Given the description of an element on the screen output the (x, y) to click on. 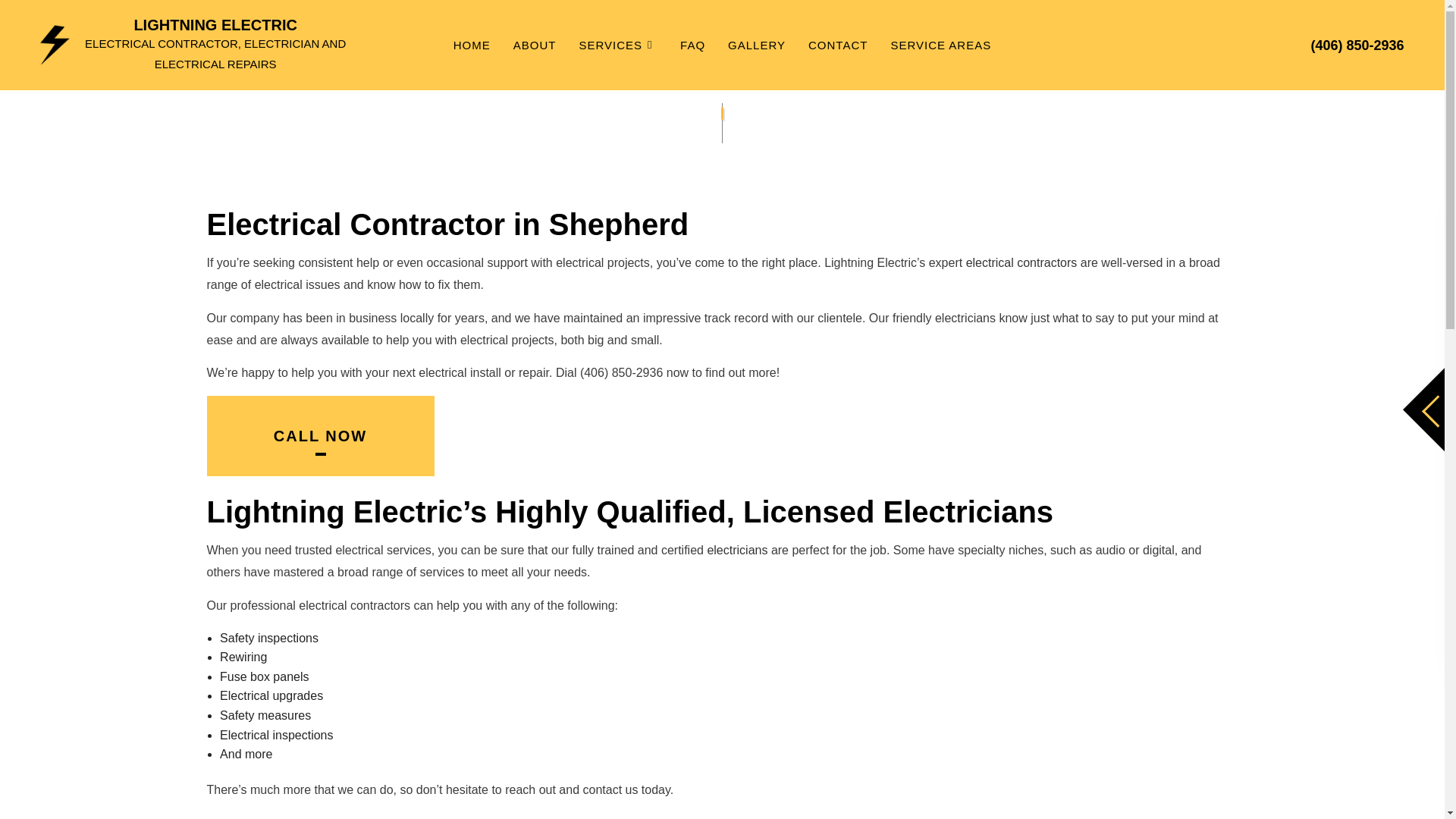
SERVICES (617, 44)
Lightning Electric (54, 43)
COMMERCIAL ELECTRICIAN (703, 99)
HOME (472, 44)
CEILING FAN INSTALLATION (498, 99)
ABOUT (534, 44)
ELECTRICAL INSPECTION (703, 126)
ELECTRICAL CONTRACTOR (498, 126)
LIGHTNING ELECTRIC (215, 24)
ELECTRICAL PANEL UPGRADES (498, 152)
Electrician (736, 549)
Electrical Contractor (1021, 262)
